Given the description of an element on the screen output the (x, y) to click on. 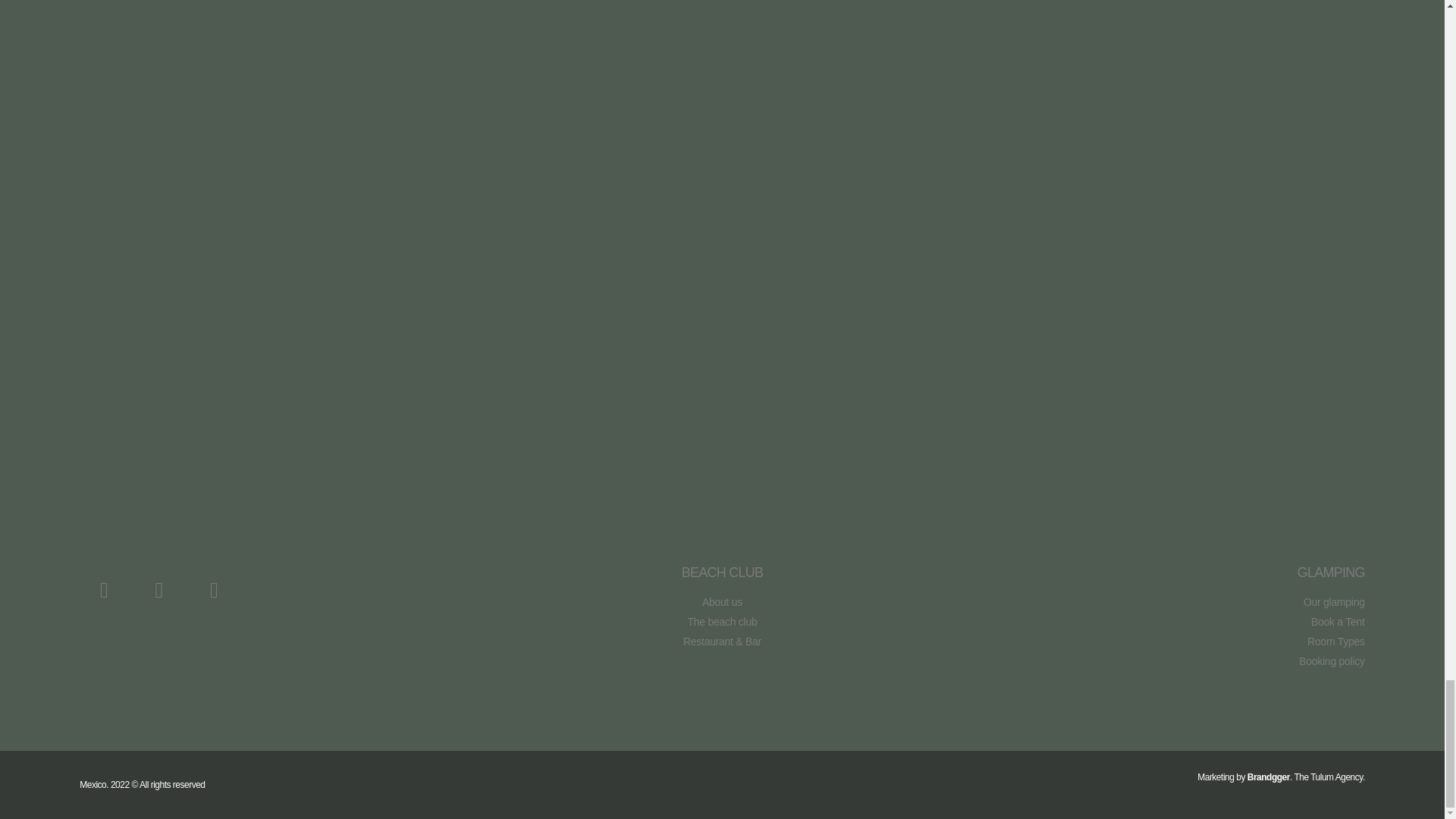
About us (722, 602)
Our glamping (1155, 602)
The beach club (722, 621)
Book a Tent (1155, 621)
